Given the description of an element on the screen output the (x, y) to click on. 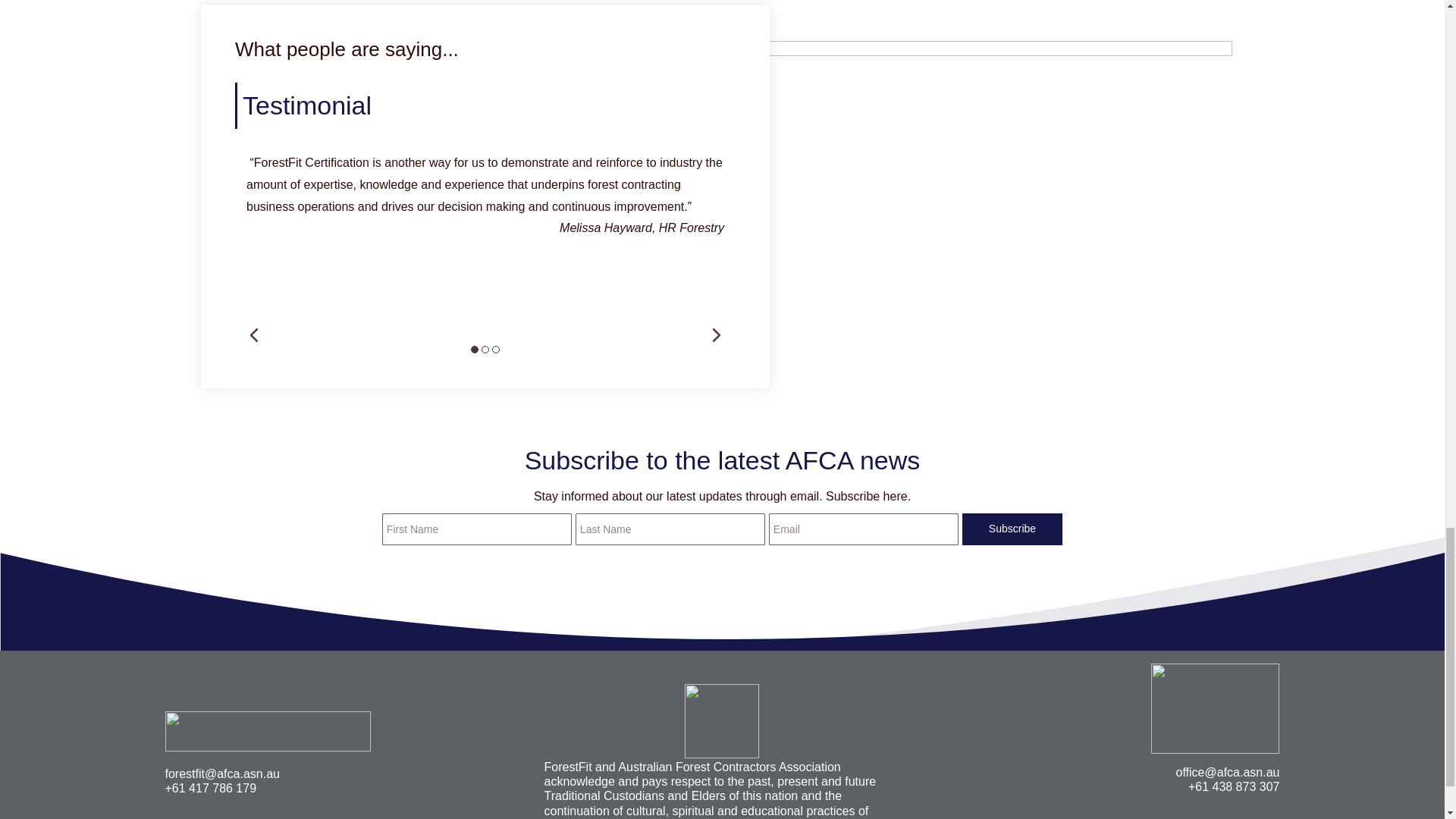
Call AFCA (1233, 786)
Call ForestFit (211, 788)
Subscribe (1012, 529)
Email AFCA (1227, 771)
